Given the description of an element on the screen output the (x, y) to click on. 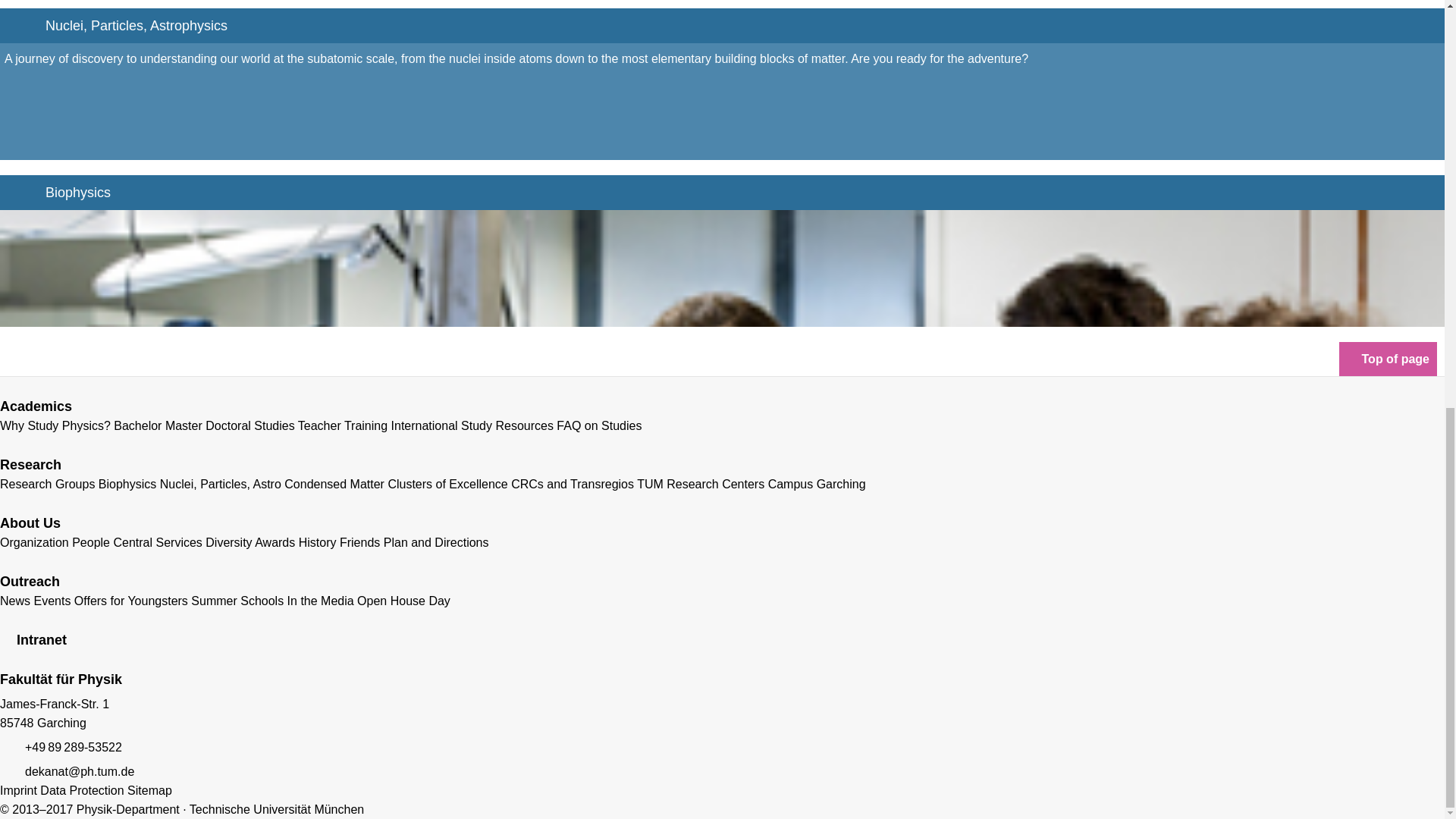
Nuclei, Particles, and Astrophysics (220, 483)
Physics of Condensed Matter (333, 483)
